Given the description of an element on the screen output the (x, y) to click on. 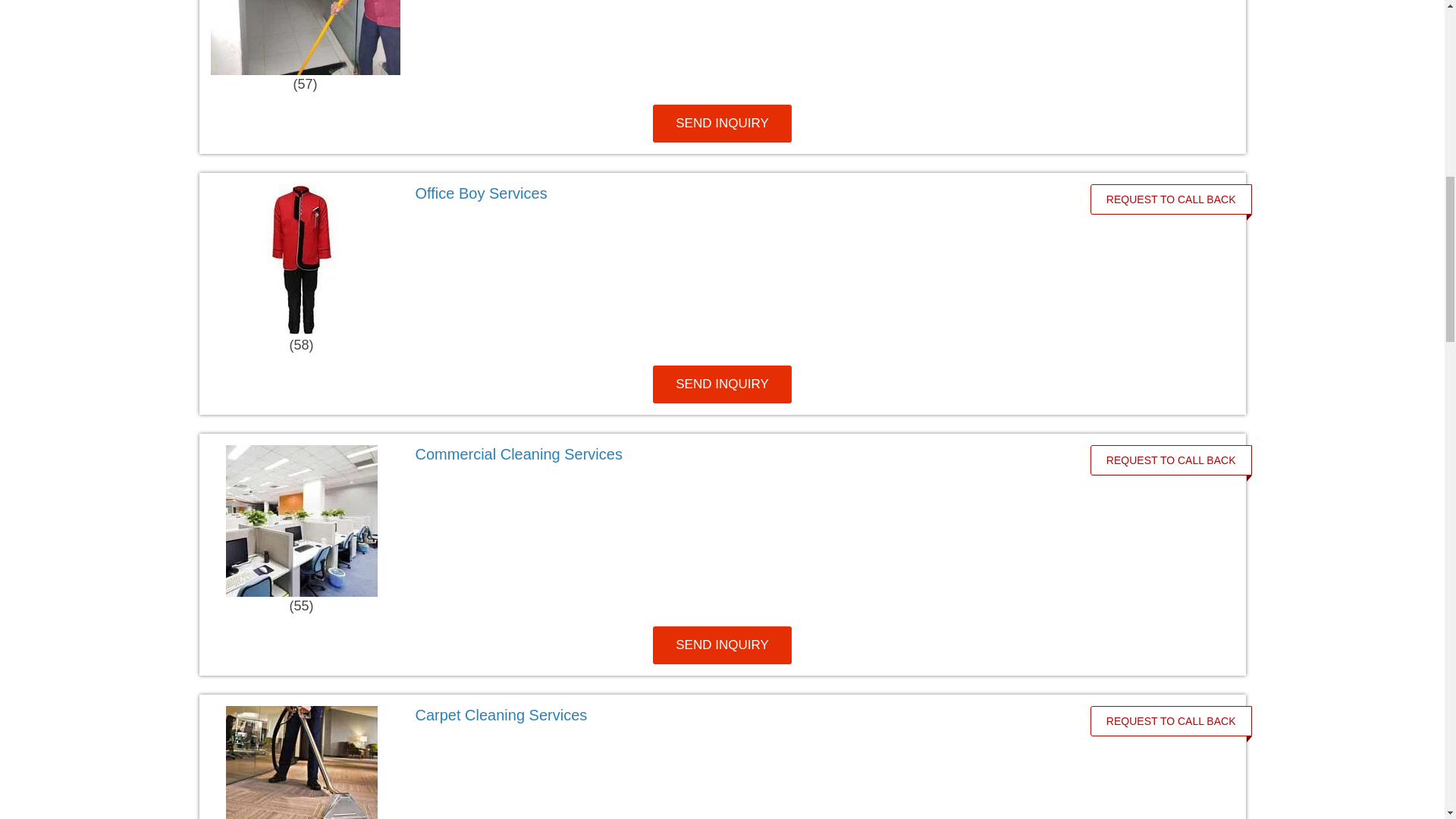
SEND INQUIRY (722, 123)
REQUEST TO CALL BACK (1170, 460)
SEND INQUIRY (722, 645)
Commercial Cleaning Services (518, 453)
Carpet Cleaning Services (501, 714)
Commercial Cleaning Services (742, 454)
Carpet Cleaning Services (742, 714)
Office Boy Services (480, 193)
Office Boy Services (742, 193)
REQUEST TO CALL BACK (1170, 720)
